Given the description of an element on the screen output the (x, y) to click on. 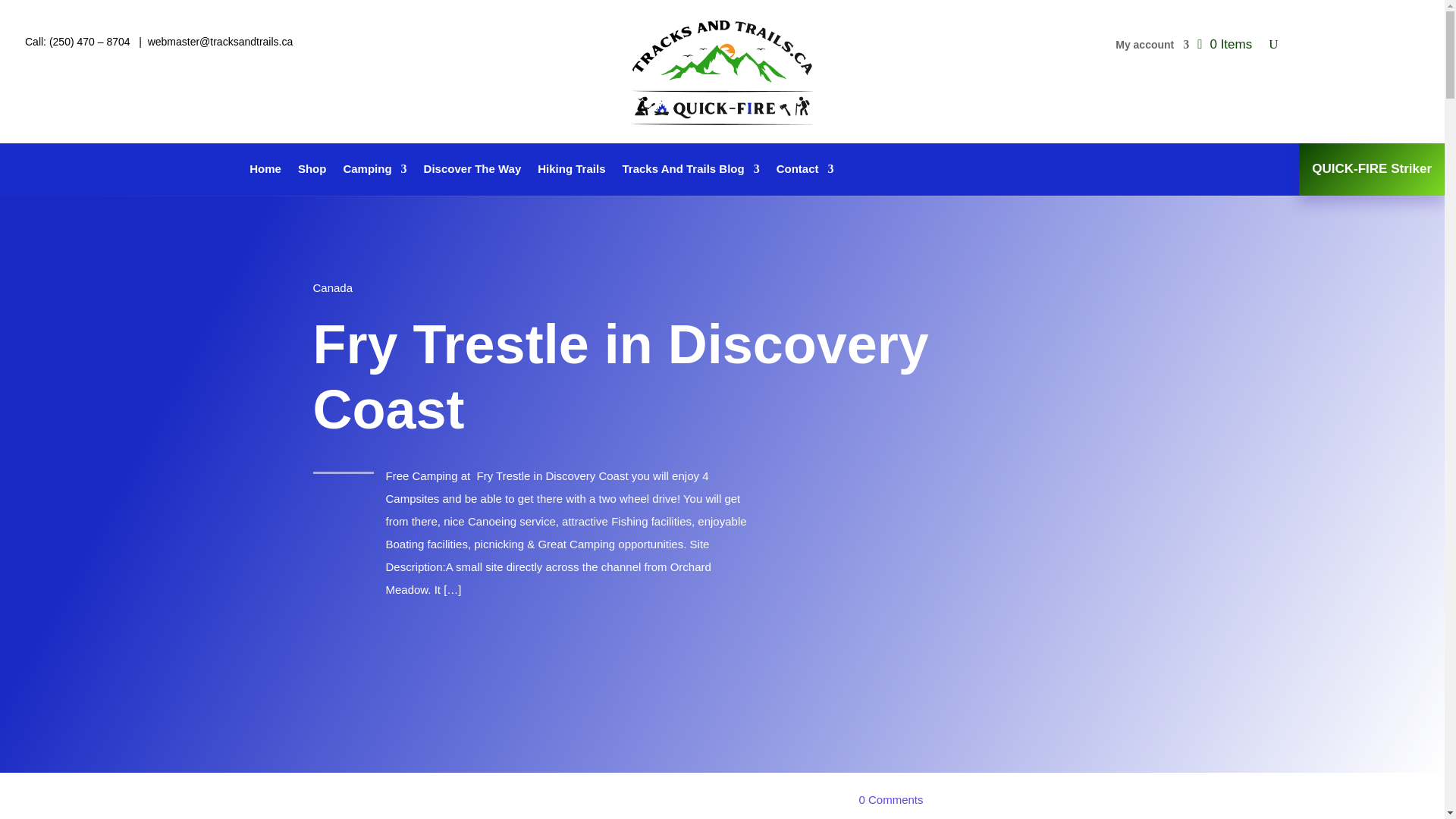
Hiking Trails (571, 171)
Camping (374, 171)
Tracks And Trails Blog (689, 171)
Discover The Way (472, 171)
Shop (312, 171)
0 Items (1224, 44)
Home (264, 171)
My account (1152, 47)
Tracks and Trails without trees weblogo (722, 71)
